Given the description of an element on the screen output the (x, y) to click on. 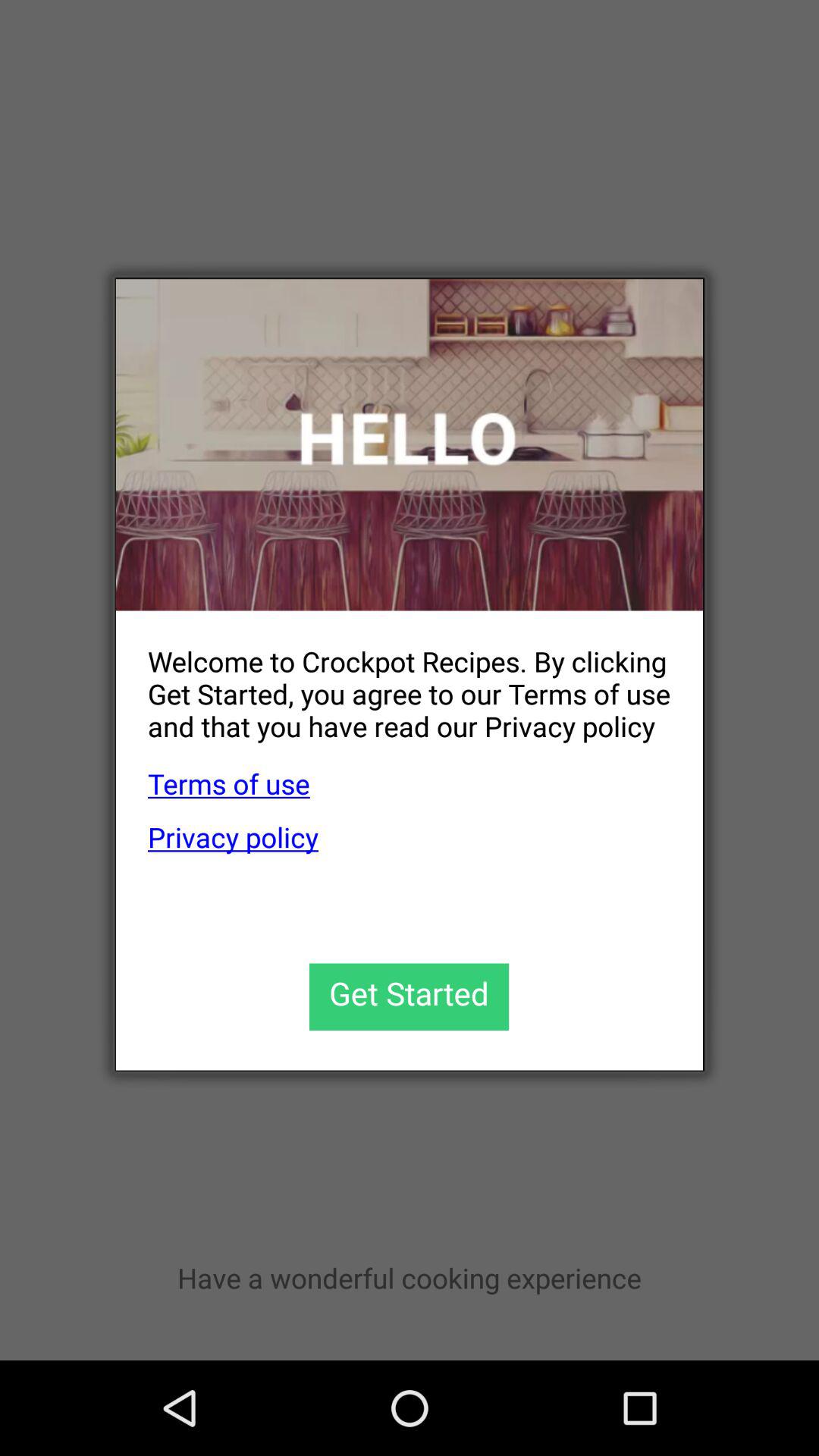
press the item below the privacy policy app (409, 996)
